Given the description of an element on the screen output the (x, y) to click on. 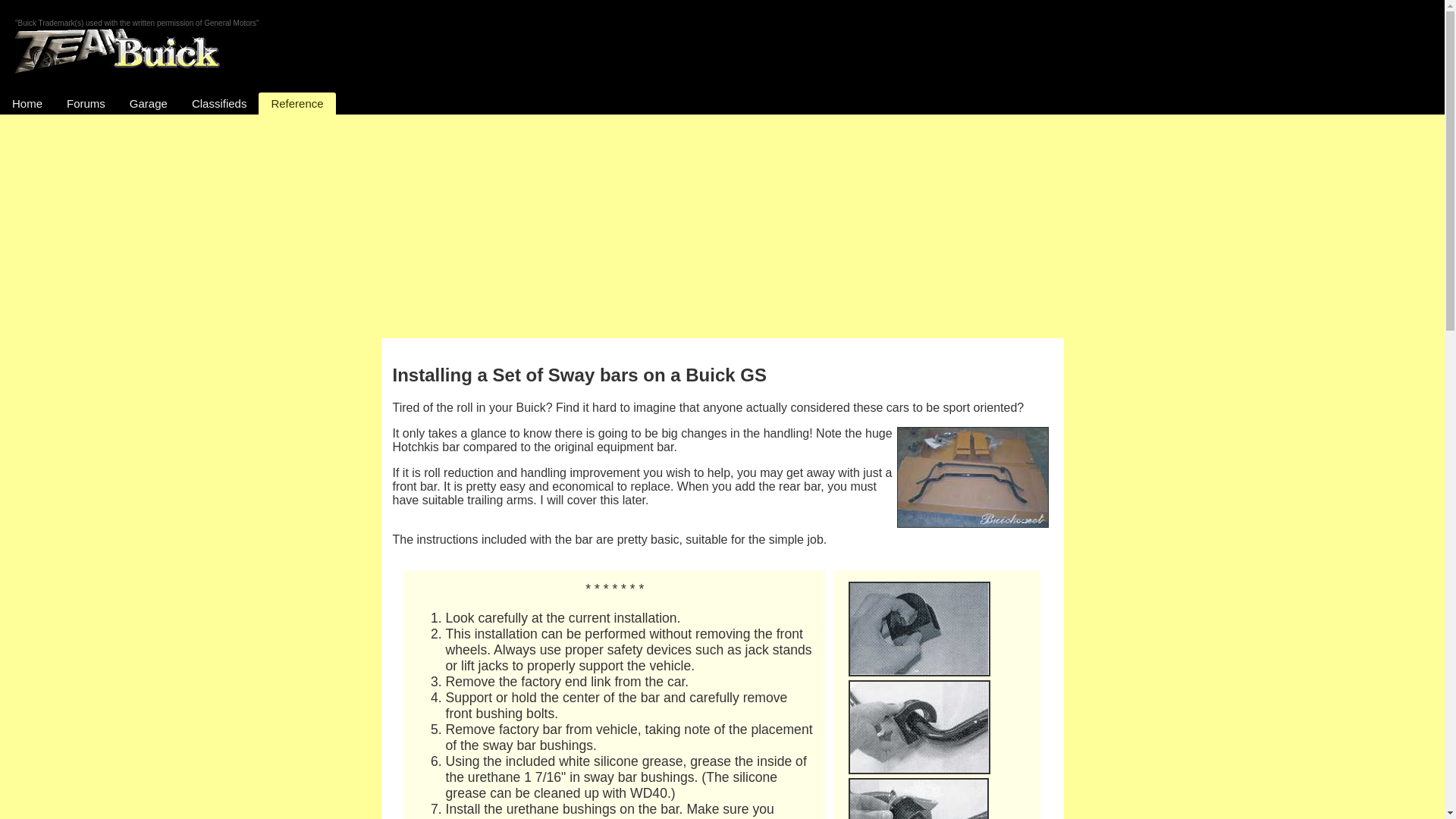
Team Buick (116, 51)
Home (27, 103)
Reference (296, 103)
Garage (148, 103)
Classifieds (219, 103)
Forums (86, 103)
